Given the description of an element on the screen output the (x, y) to click on. 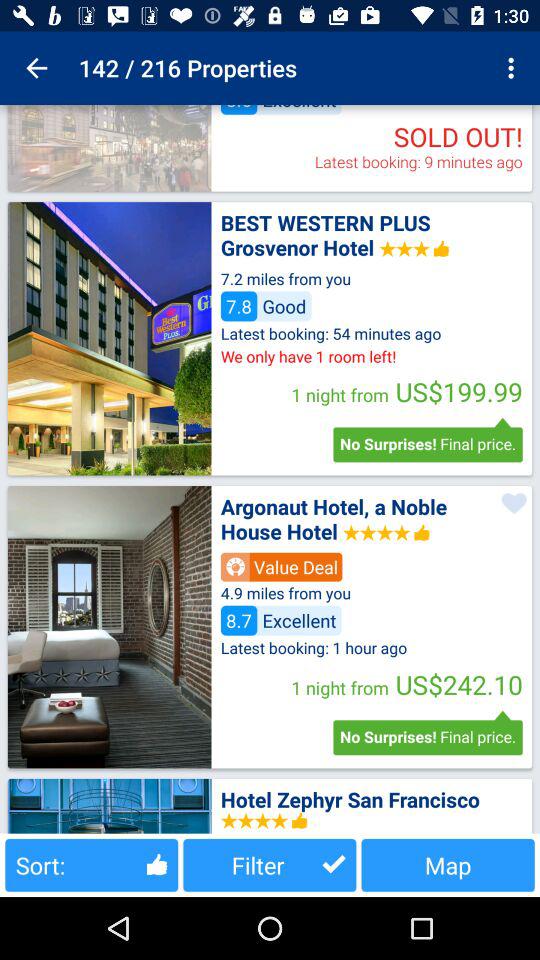
swipe to sort:  icon (91, 864)
